Given the description of an element on the screen output the (x, y) to click on. 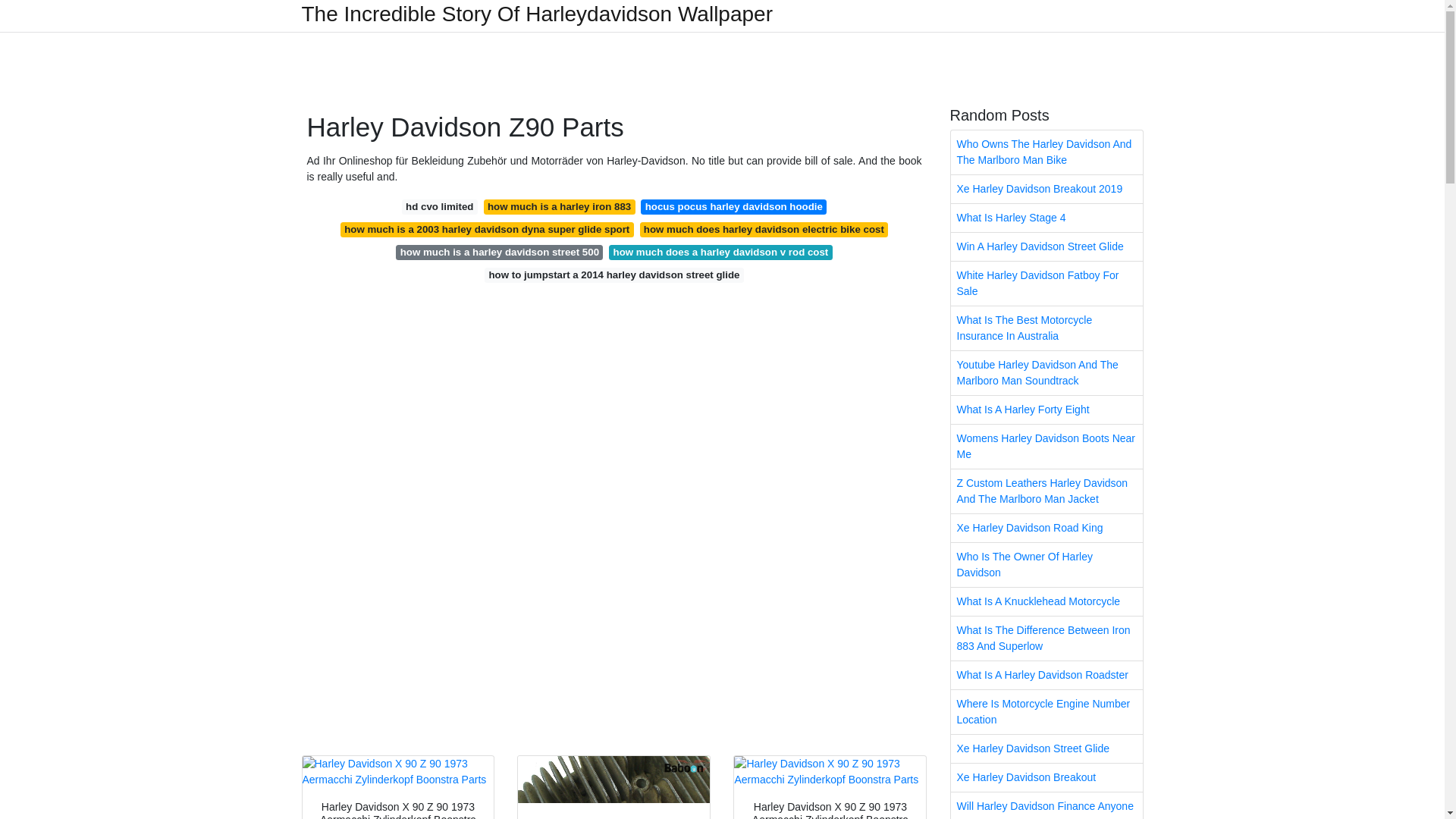
how much is a harley davidson street 500 (499, 252)
Win A Harley Davidson Street Glide (1046, 246)
how much is a harley iron 883 (558, 206)
Who Owns The Harley Davidson And The Marlboro Man Bike (1046, 152)
What Is Harley Stage 4 (1046, 217)
White Harley Davidson Fatboy For Sale (1046, 283)
how much does a harley davidson v rod cost (719, 252)
What Is The Best Motorcycle Insurance In Australia (1046, 328)
Youtube Harley Davidson And The Marlboro Man Soundtrack (1046, 372)
Womens Harley Davidson Boots Near Me (1046, 446)
